Given the description of an element on the screen output the (x, y) to click on. 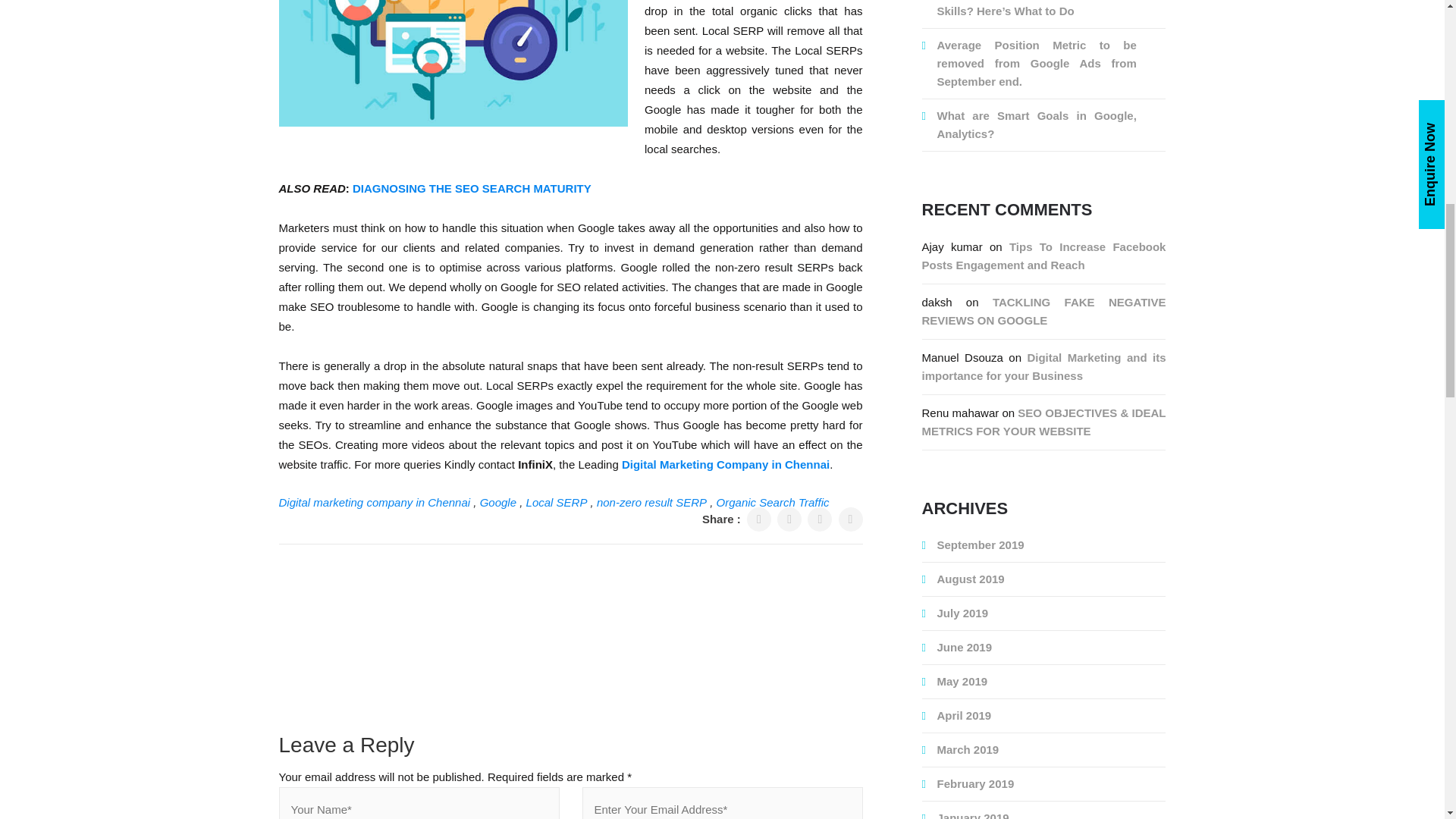
Organic Search Traffic (772, 502)
Digital marketing company in Chennai (374, 502)
Digital Marketing Company in Chennai (725, 465)
DIAGNOSING THE SEO SEARCH MATURITY (471, 189)
non-zero result SERP (651, 502)
Google (498, 502)
Local SERP (556, 502)
